Given the description of an element on the screen output the (x, y) to click on. 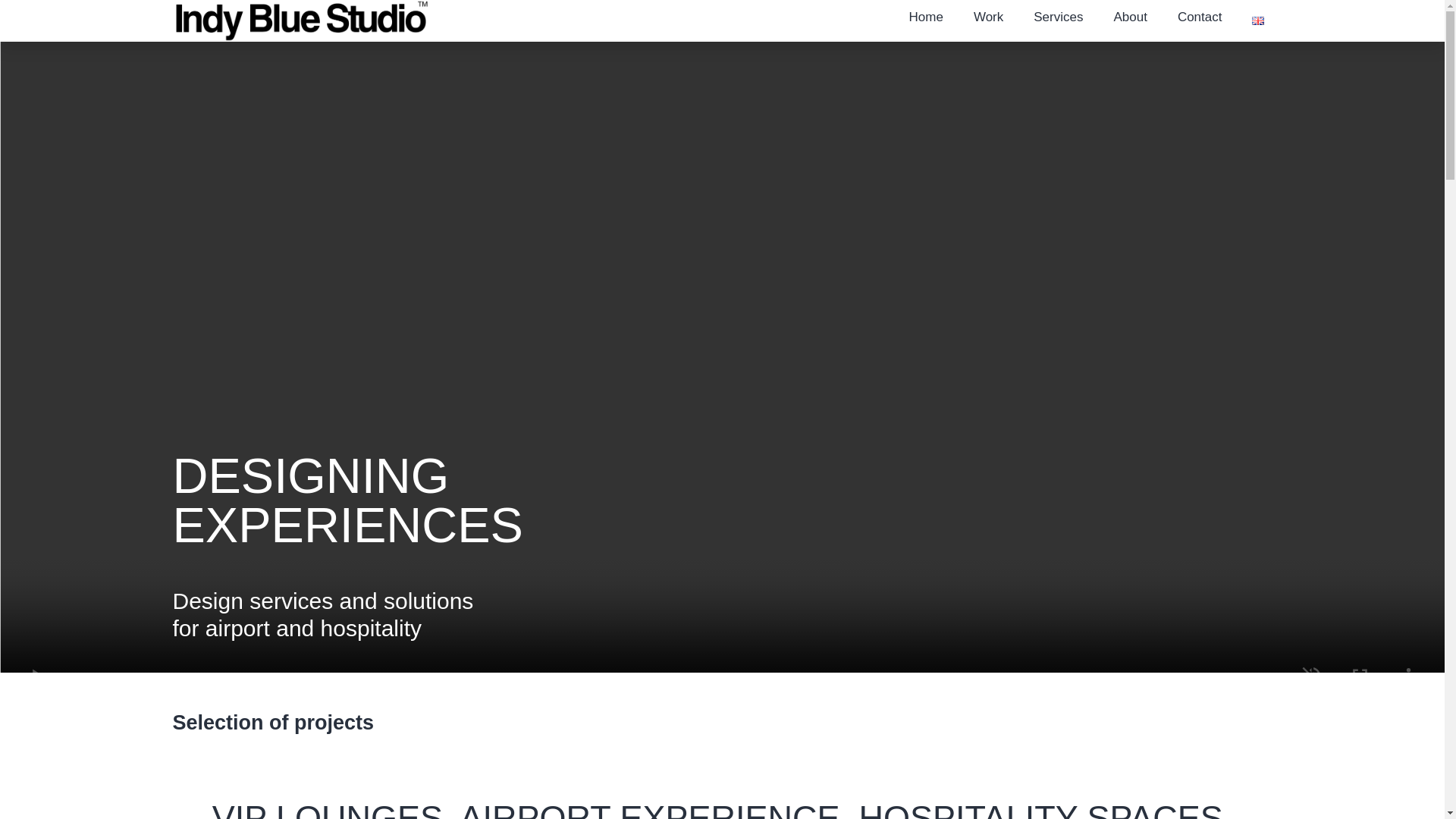
About (1129, 16)
Home (925, 16)
Contact (1199, 16)
Work (987, 16)
Services (1057, 16)
